Given the description of an element on the screen output the (x, y) to click on. 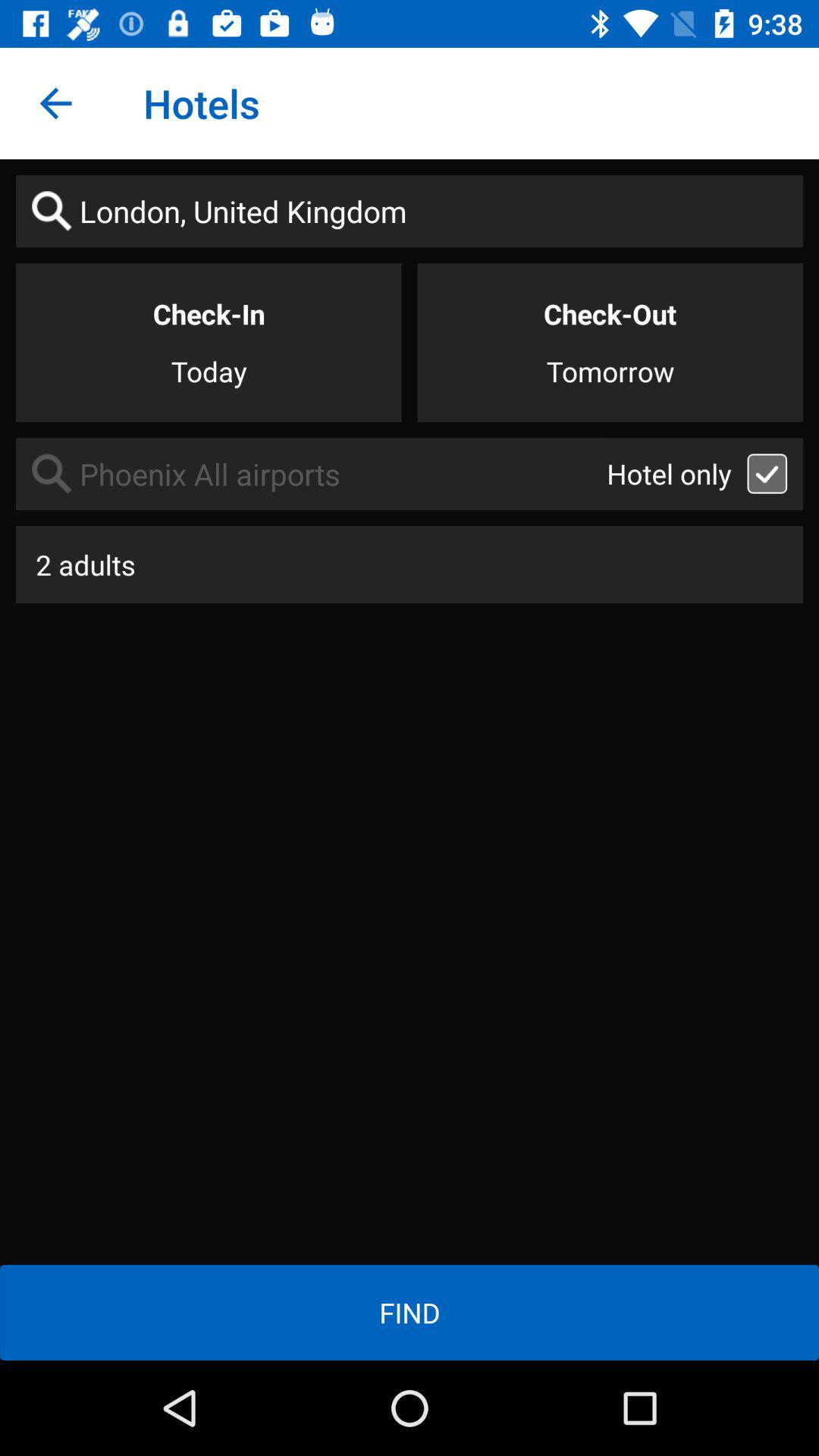
choose london, united kingdom (409, 211)
